Given the description of an element on the screen output the (x, y) to click on. 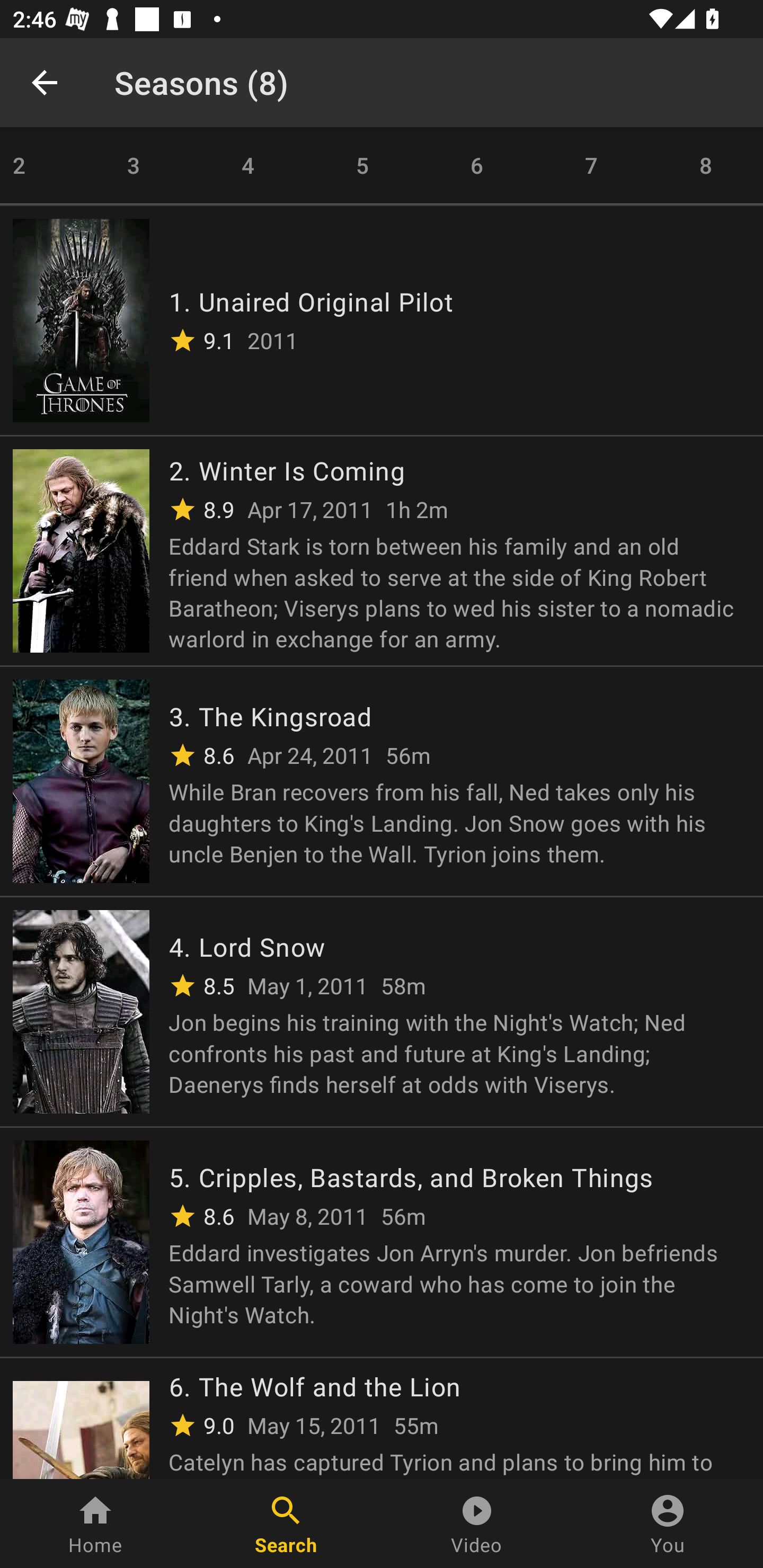
2 (38, 165)
3 (133, 165)
4 (247, 165)
5 (362, 165)
6 (476, 165)
7 (591, 165)
8 (705, 165)
1. Unaired Original Pilot 9.1 2011 (381, 318)
Home (95, 1523)
Video (476, 1523)
You (667, 1523)
